Given the description of an element on the screen output the (x, y) to click on. 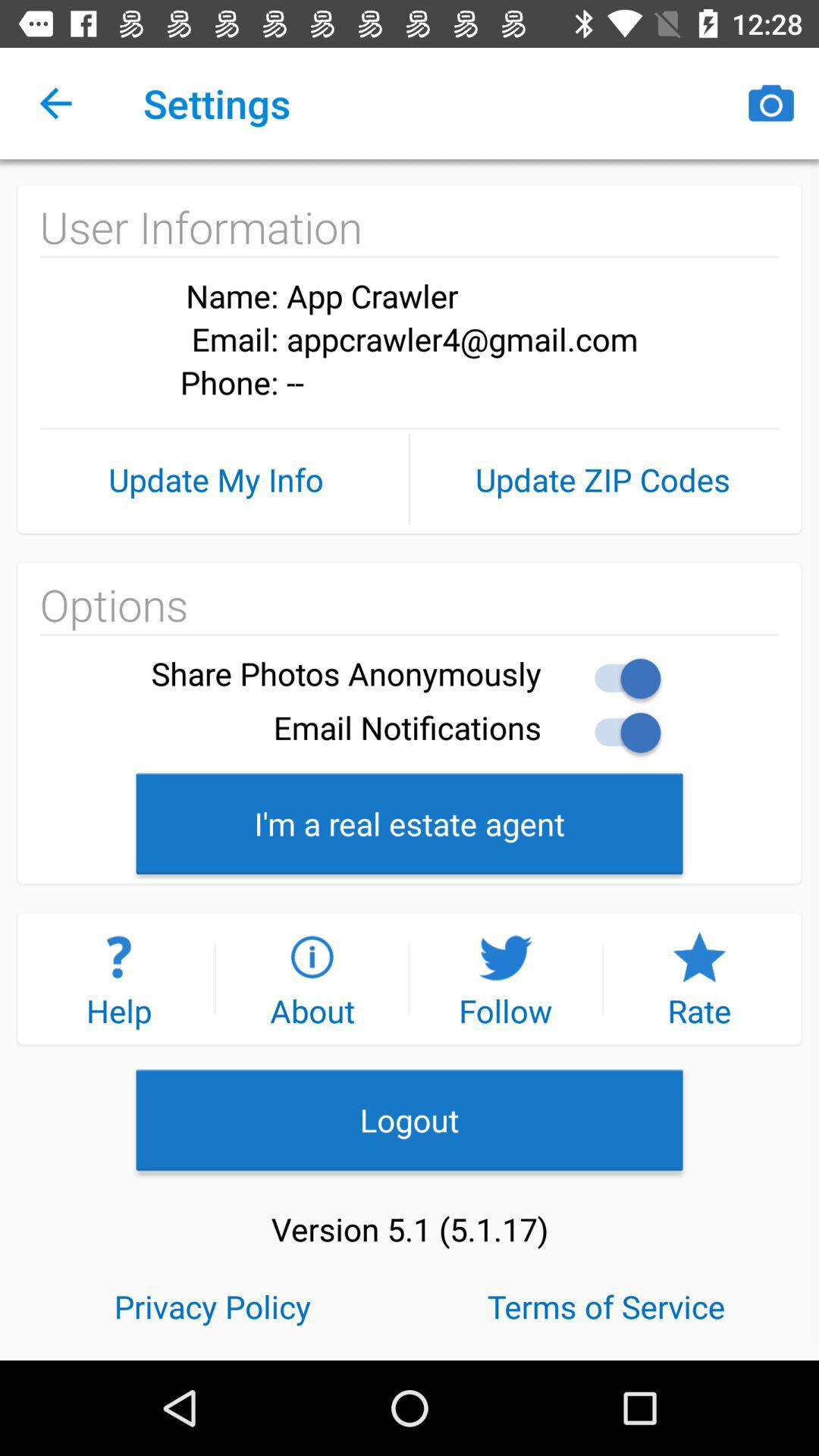
launch item above the version 5 1 icon (409, 1119)
